Given the description of an element on the screen output the (x, y) to click on. 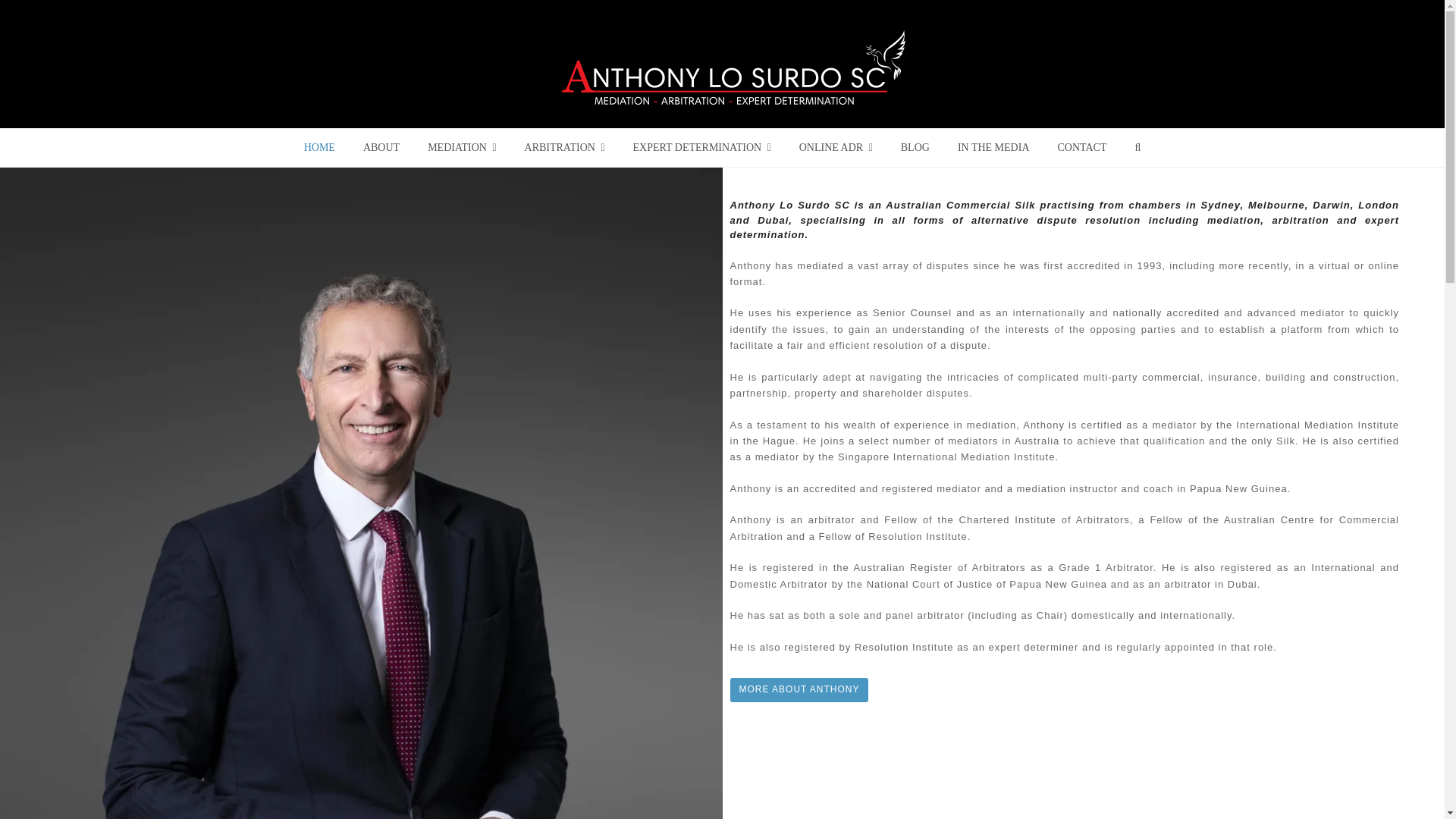
ARBITRATION (563, 147)
ABOUT (381, 147)
CONTACT (1081, 147)
MORE ABOUT ANTHONY (798, 689)
BLOG (915, 147)
HOME (319, 147)
EXPERT DETERMINATION (701, 147)
MEDIATION (461, 147)
IN THE MEDIA (993, 147)
Silk Mediator (733, 67)
ONLINE ADR (836, 147)
MORE ABOUT ANTHONY (798, 689)
